Given the description of an element on the screen output the (x, y) to click on. 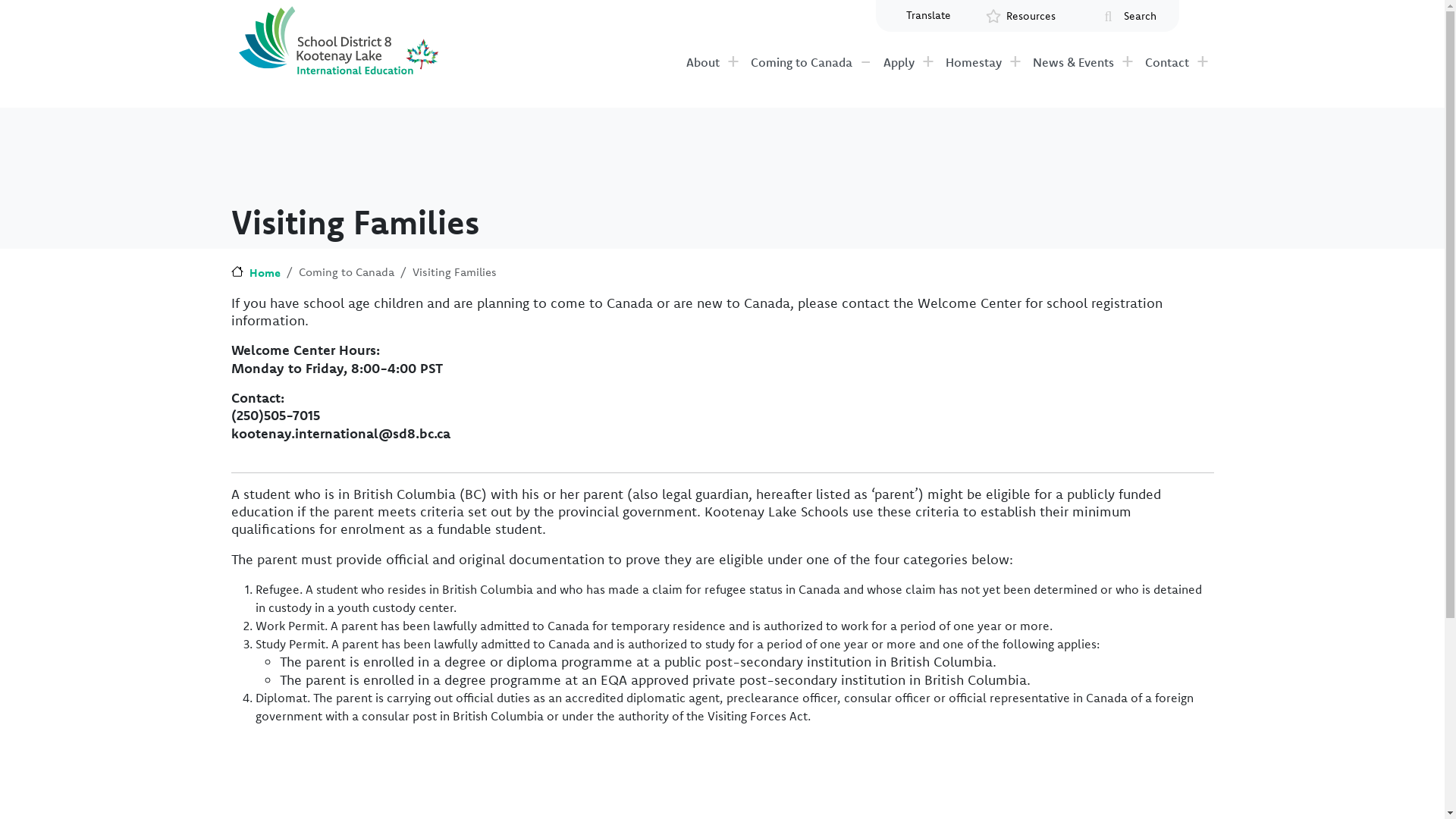
Home Element type: text (254, 272)
Translate Element type: text (927, 15)
Search Element type: text (1139, 15)
Resources Element type: text (1030, 16)
